Given the description of an element on the screen output the (x, y) to click on. 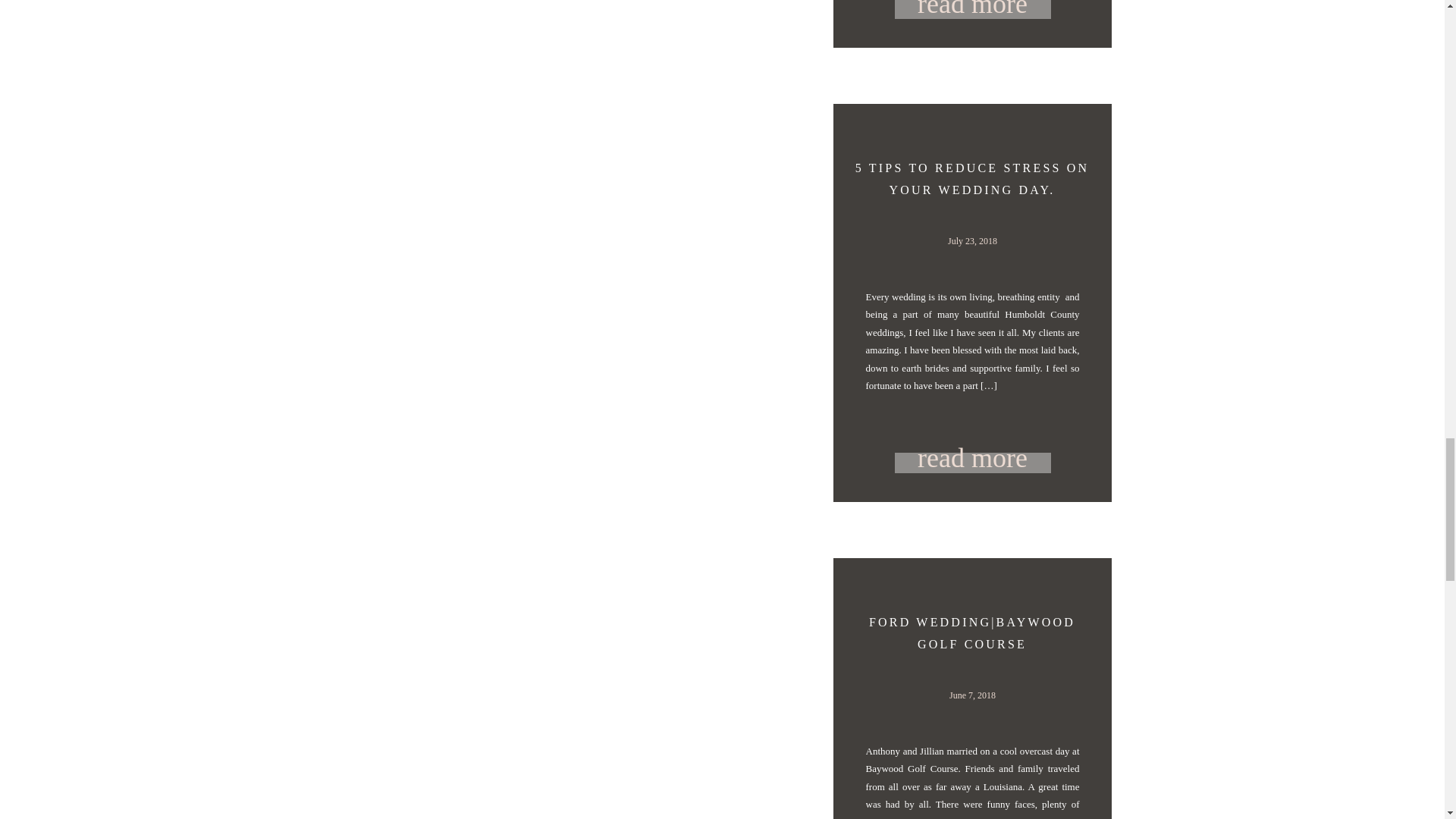
read more (973, 18)
read more (973, 456)
5 TIPS TO REDUCE STRESS ON YOUR WEDDING DAY. (972, 178)
The stress free tips for choosing your wedding photographer. (973, 9)
5 tips to reduce stress on your wedding day. (973, 462)
The stress free tips for choosing your wedding photographer. (583, 23)
The stress free tips for choosing your wedding photographer. (973, 18)
5 tips to reduce stress on your wedding day. (973, 456)
